Given the description of an element on the screen output the (x, y) to click on. 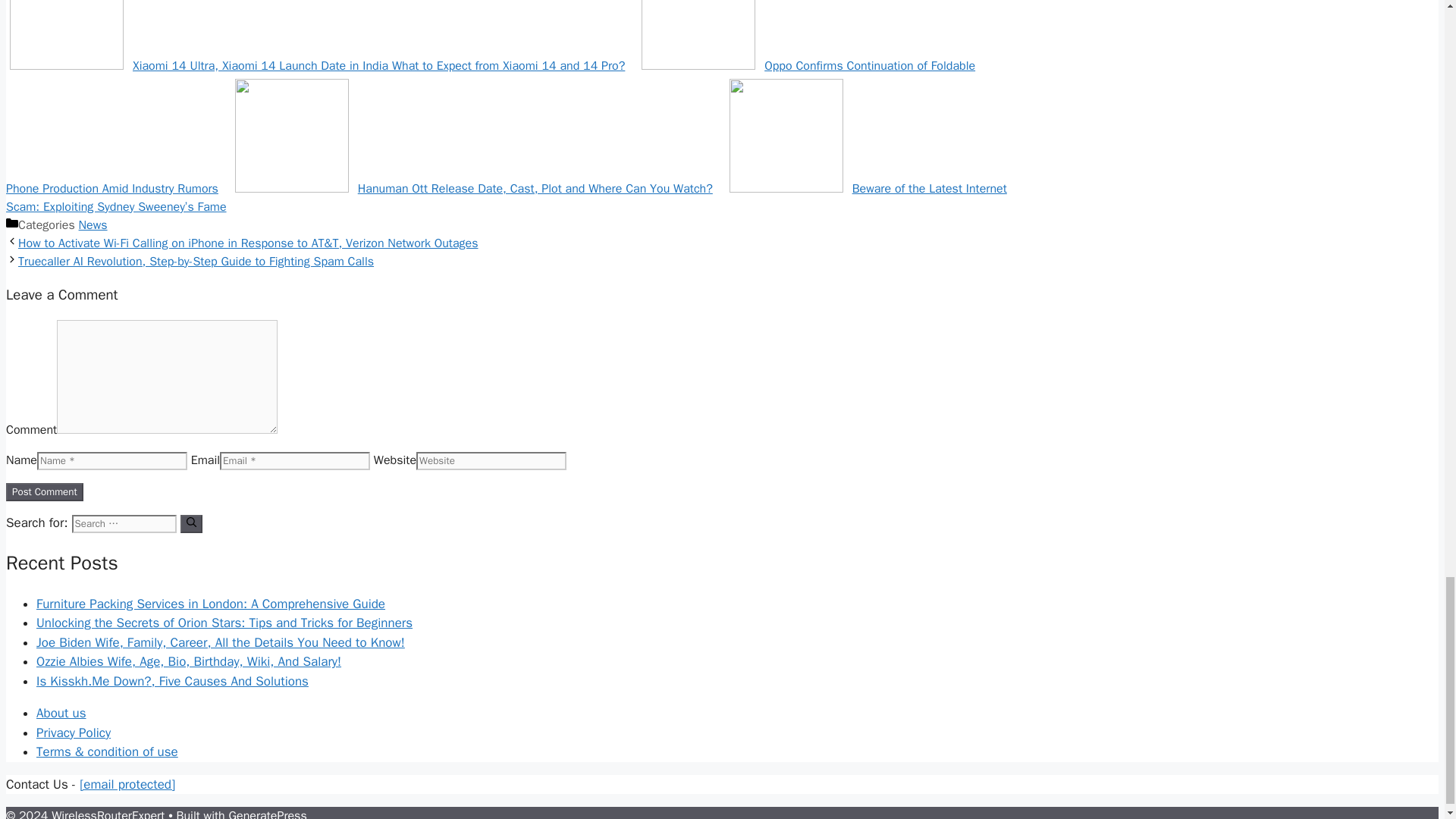
Post Comment (43, 492)
Post Comment (43, 492)
Search for: (123, 524)
News (92, 224)
